Given the description of an element on the screen output the (x, y) to click on. 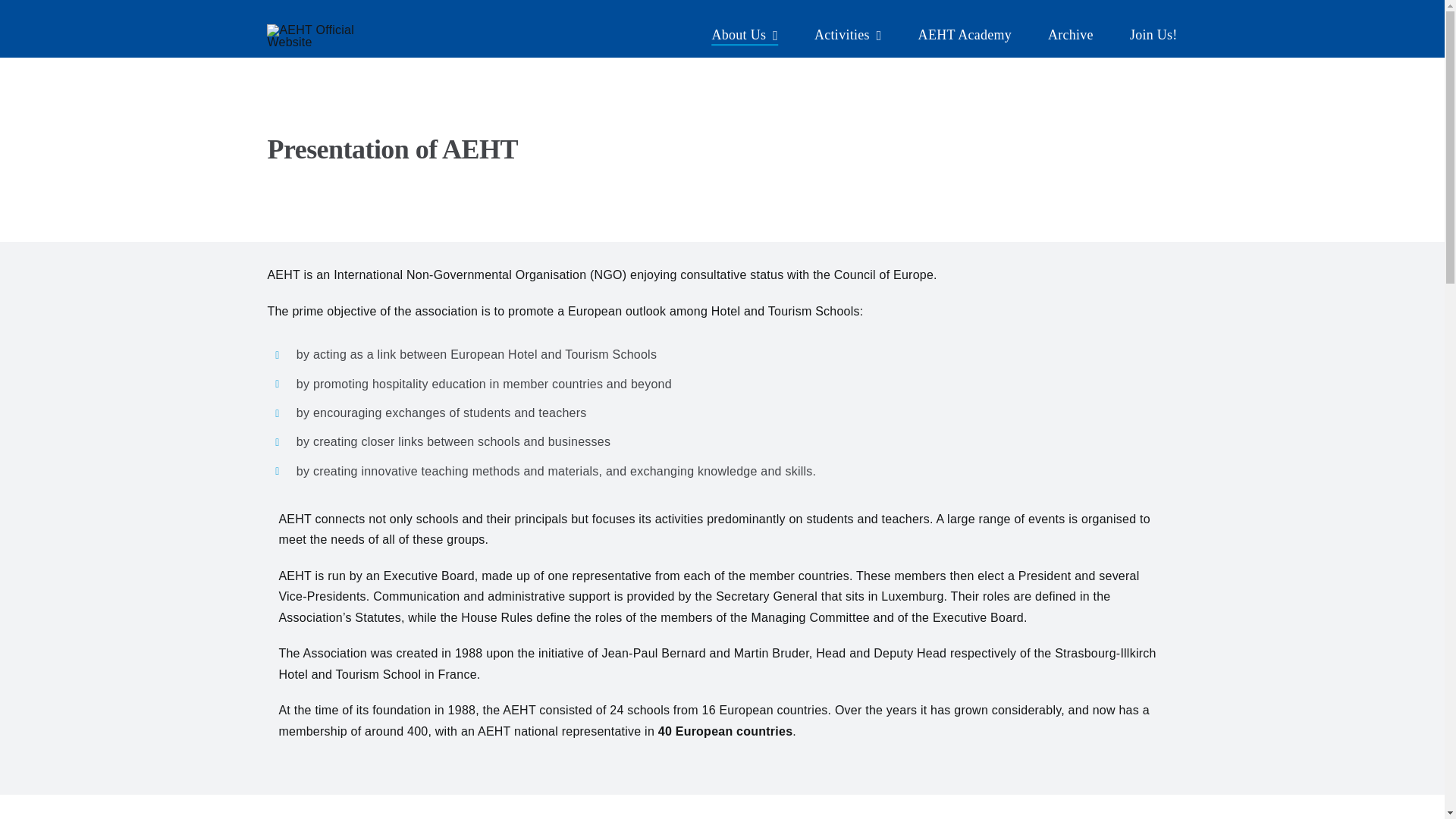
Archive (1070, 36)
Activities (847, 36)
About Us (744, 36)
Join Us! (1153, 36)
AEHT Academy (964, 36)
